Given the description of an element on the screen output the (x, y) to click on. 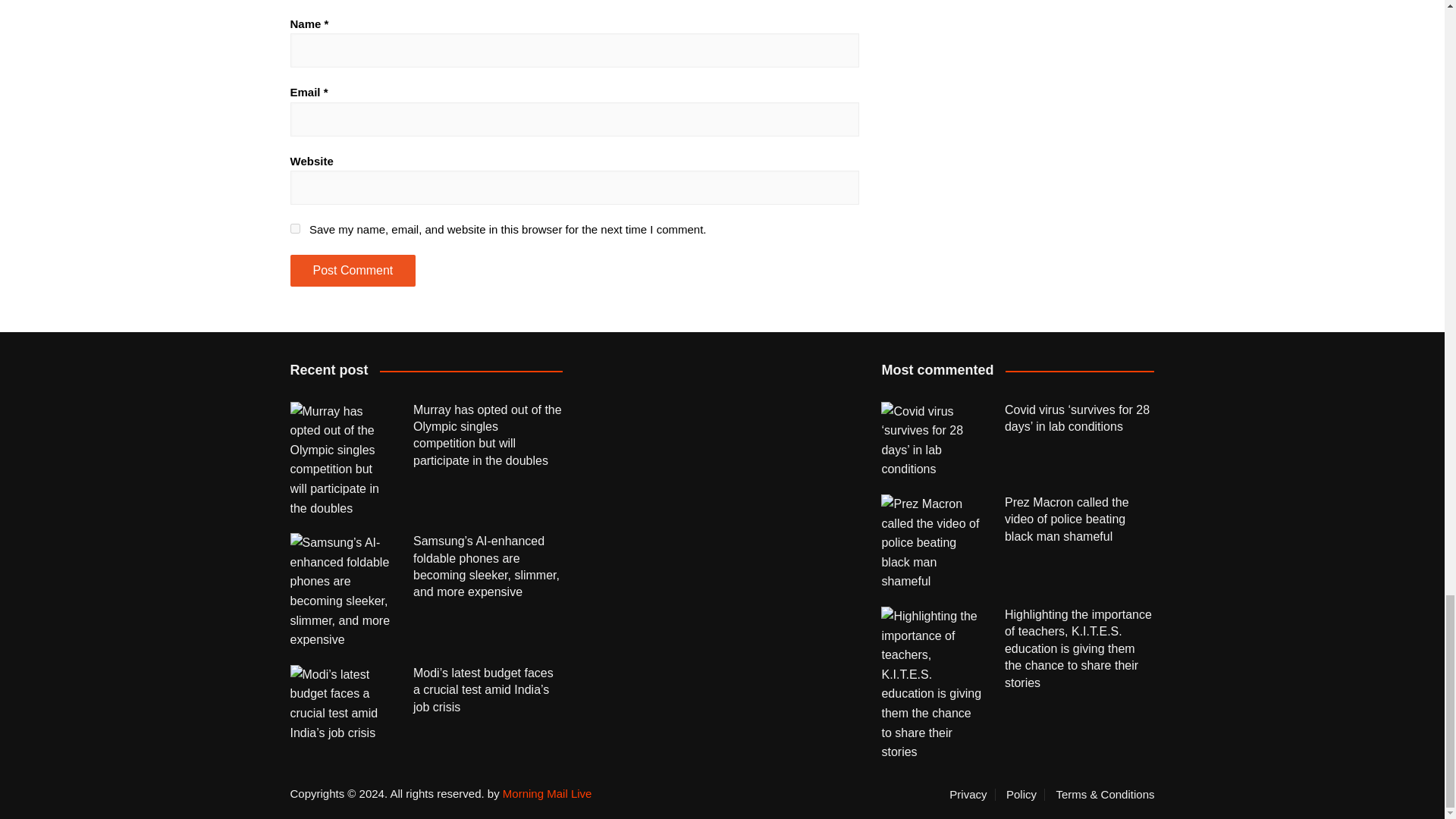
Post Comment (351, 270)
Post Comment (351, 270)
yes (294, 228)
